Given the description of an element on the screen output the (x, y) to click on. 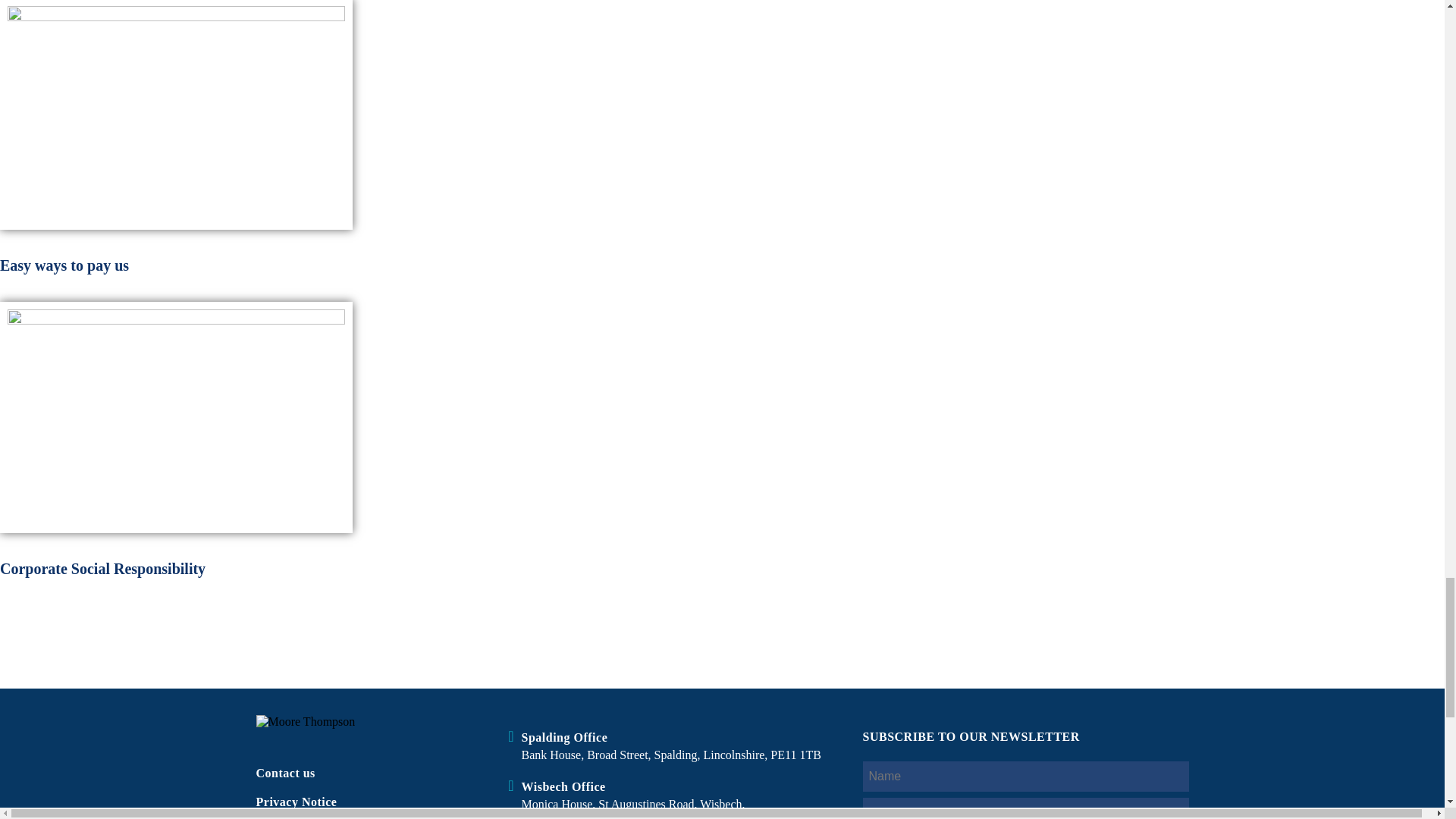
Corporate Social Responsibility (176, 417)
Easy ways to pay us (176, 113)
